Given the description of an element on the screen output the (x, y) to click on. 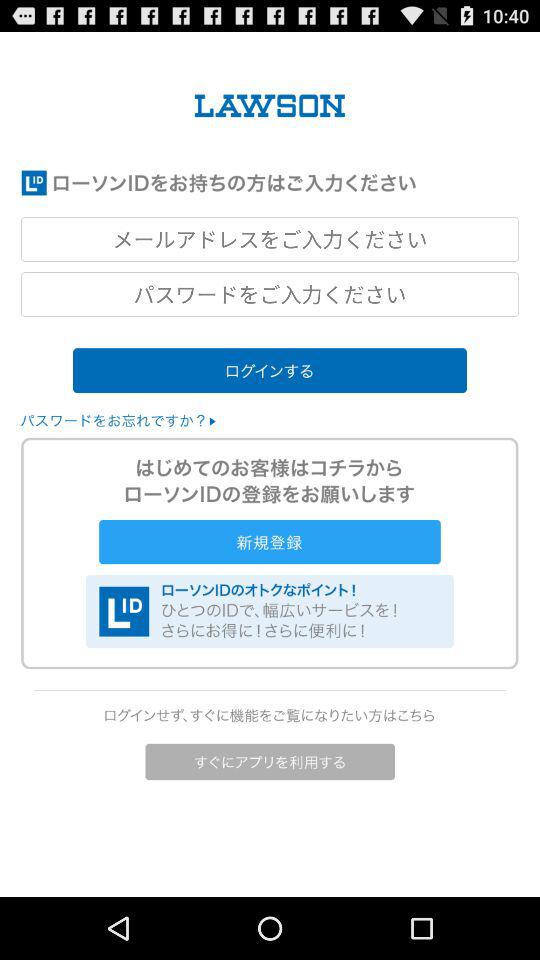
lawson log in id space (270, 239)
